Given the description of an element on the screen output the (x, y) to click on. 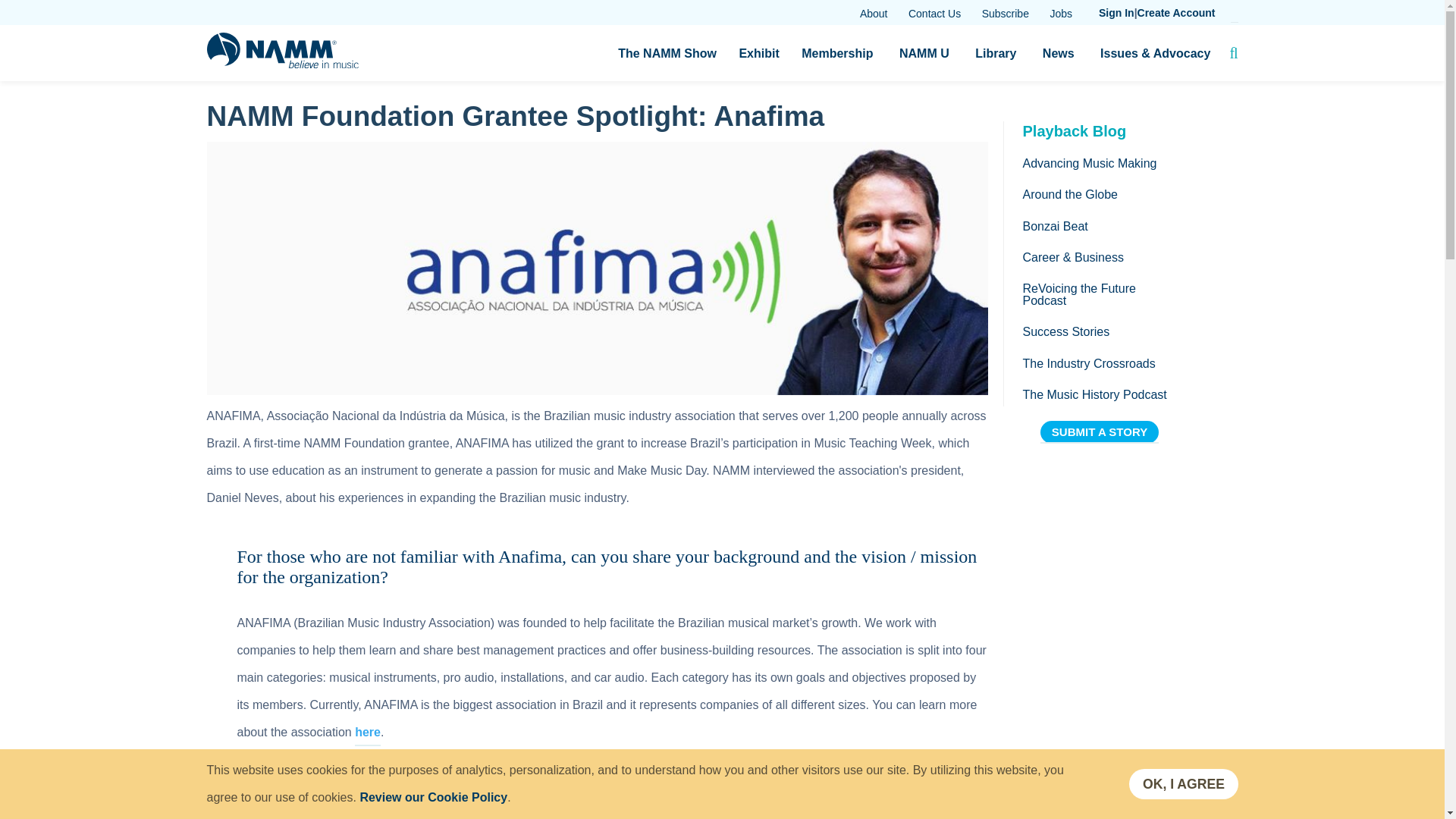
Sign In to NAMM.org (1116, 13)
About (874, 13)
Contact Us (934, 13)
Industry Job Board (1060, 13)
Membership (836, 53)
The NAMM Show (667, 53)
NAMM - Believe In Music (282, 63)
About NAMM (874, 13)
Sign In (1116, 13)
Exhibit (758, 52)
